Given the description of an element on the screen output the (x, y) to click on. 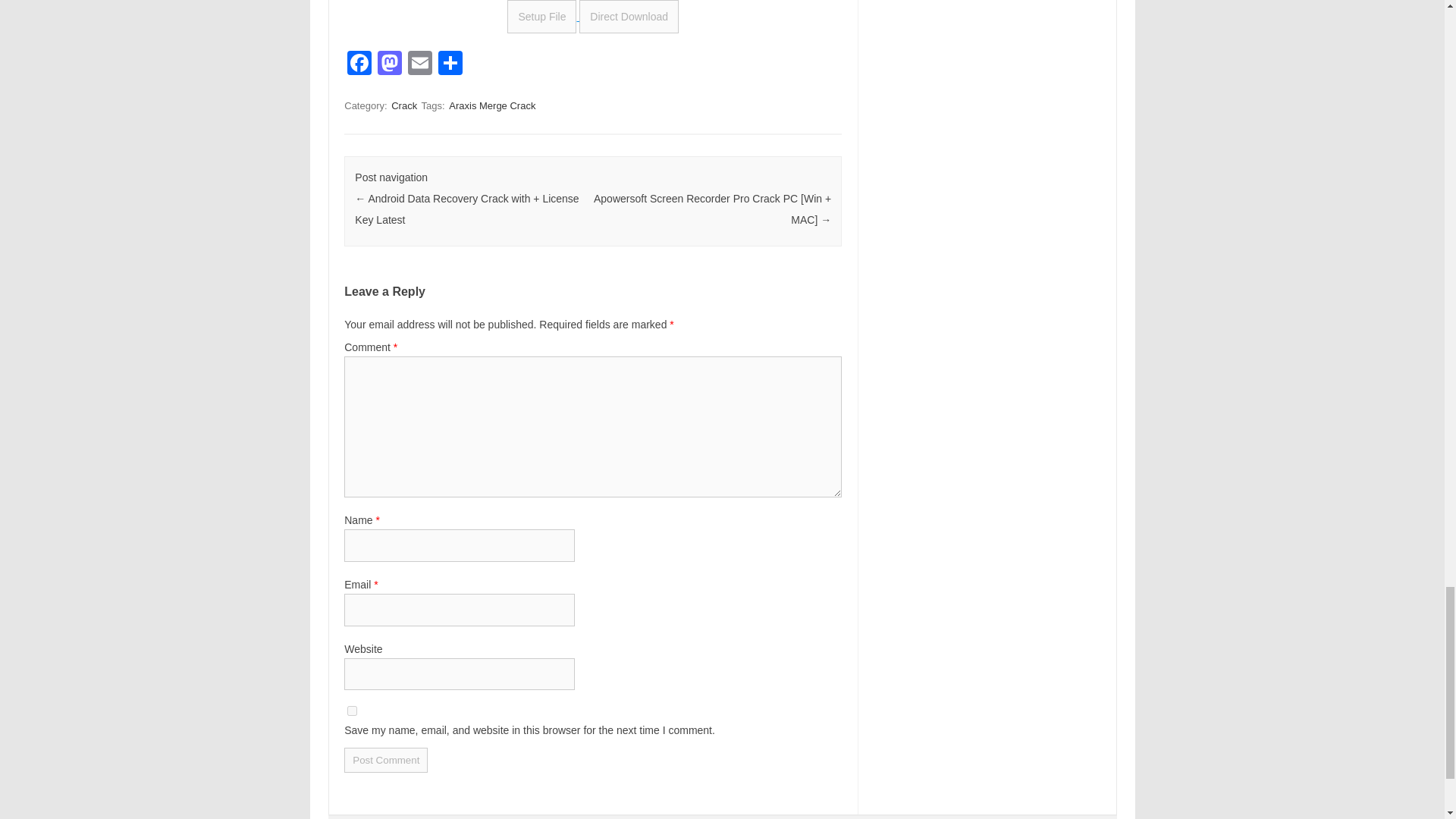
Setup File Direct Download (592, 16)
Setup File (541, 16)
Email (419, 64)
Post Comment (385, 760)
Crack (404, 105)
Post Comment (385, 760)
Mastodon (389, 64)
Email (419, 64)
yes (351, 710)
Facebook (358, 64)
Araxis Merge Crack (491, 105)
Direct Download (628, 16)
Mastodon (389, 64)
Facebook (358, 64)
